Given the description of an element on the screen output the (x, y) to click on. 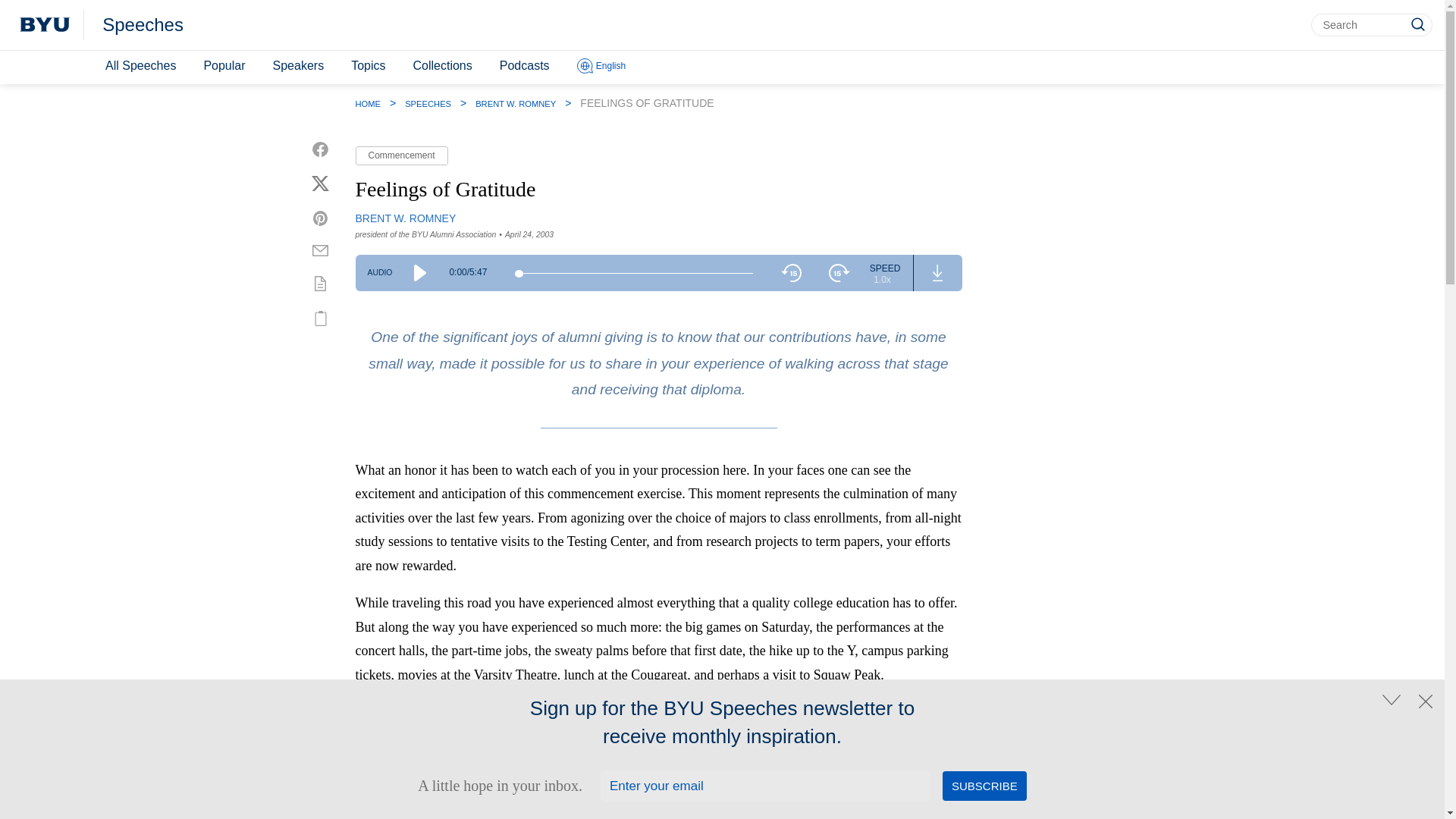
BRENT W. ROMNEY (516, 103)
Subscribe (984, 785)
English (600, 67)
All Speeches (140, 65)
Speakers (298, 65)
BRENT W. ROMNEY (405, 218)
HOME (367, 103)
Podcasts (524, 65)
Popular (223, 65)
Collections (441, 65)
